Given the description of an element on the screen output the (x, y) to click on. 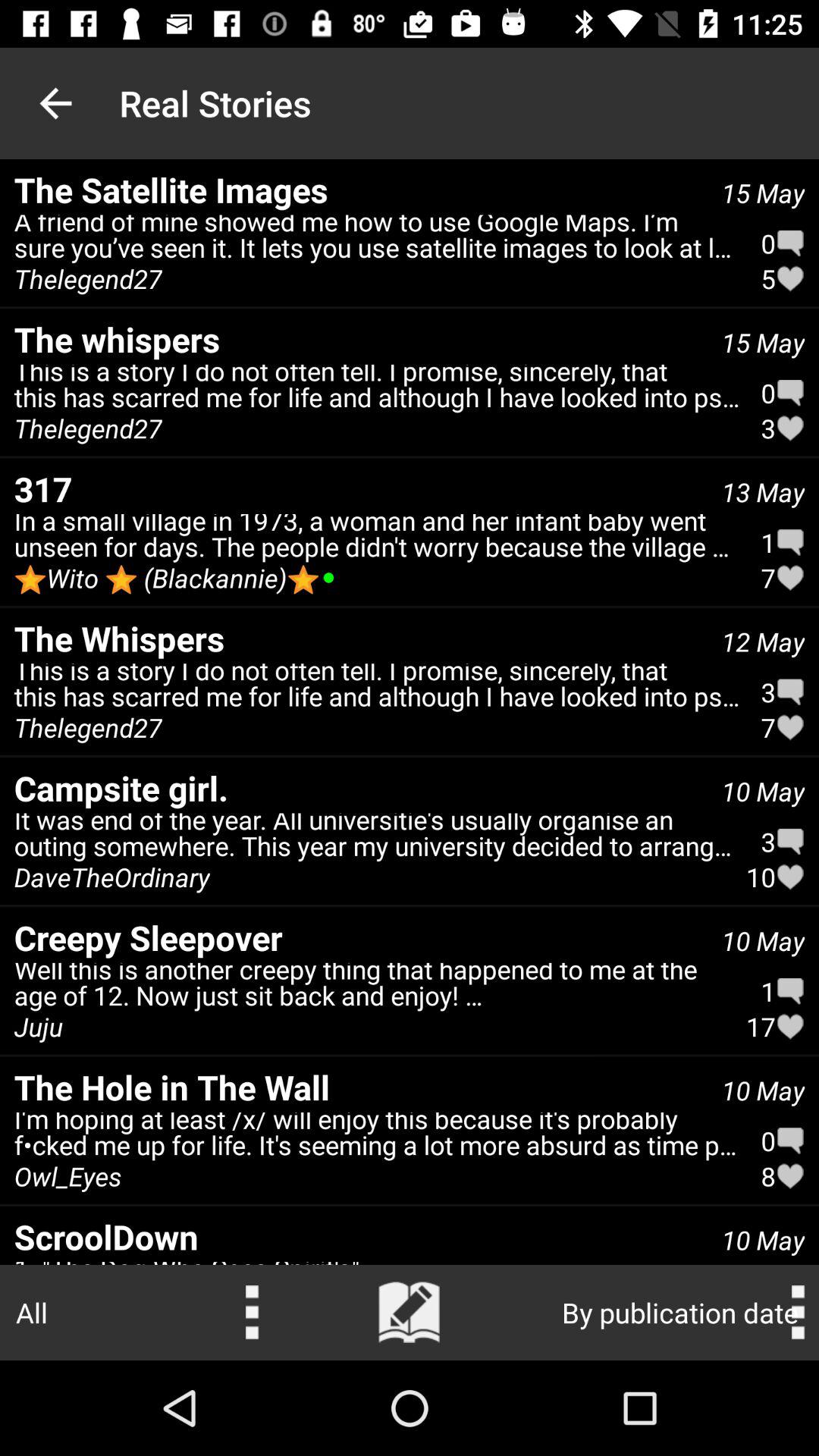
escrever uma nova histria (409, 1312)
